Given the description of an element on the screen output the (x, y) to click on. 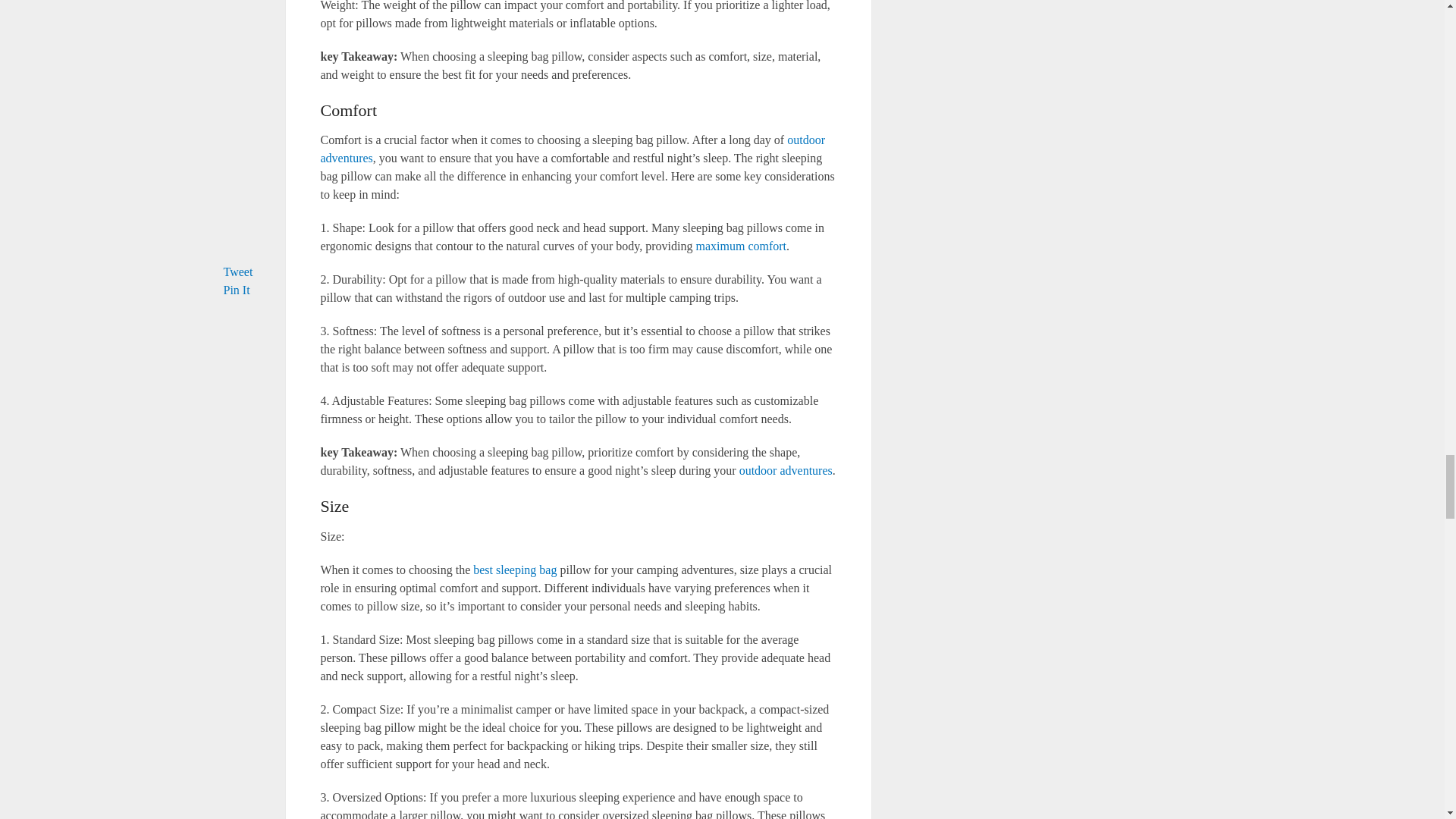
outdoor adventures (785, 470)
maximum comfort (741, 245)
outdoor adventures (572, 148)
best sleeping bag (514, 569)
